Given the description of an element on the screen output the (x, y) to click on. 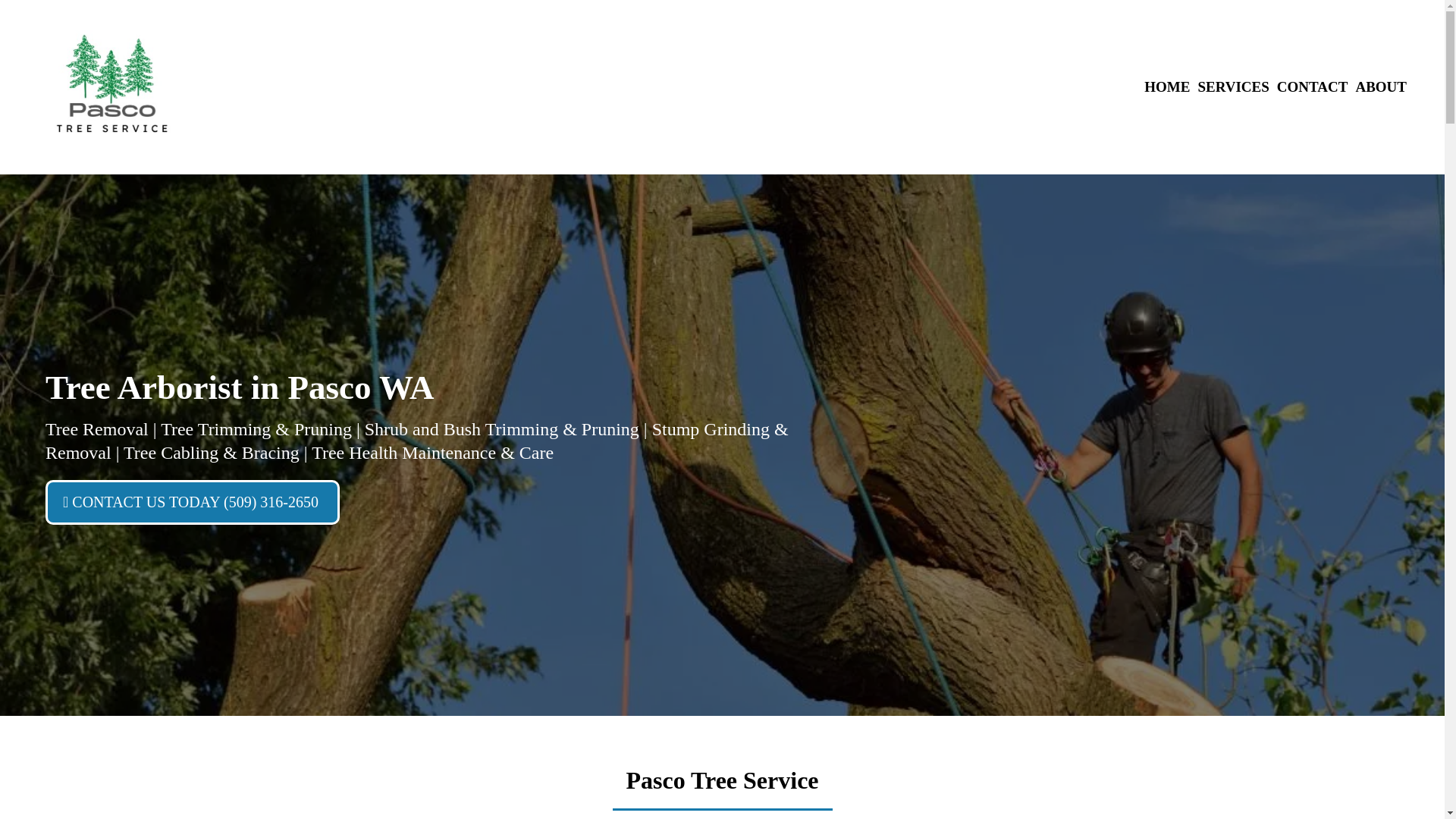
HOME (1166, 87)
SERVICES (1232, 87)
CONTACT (1312, 87)
ABOUT (1380, 87)
